Given the description of an element on the screen output the (x, y) to click on. 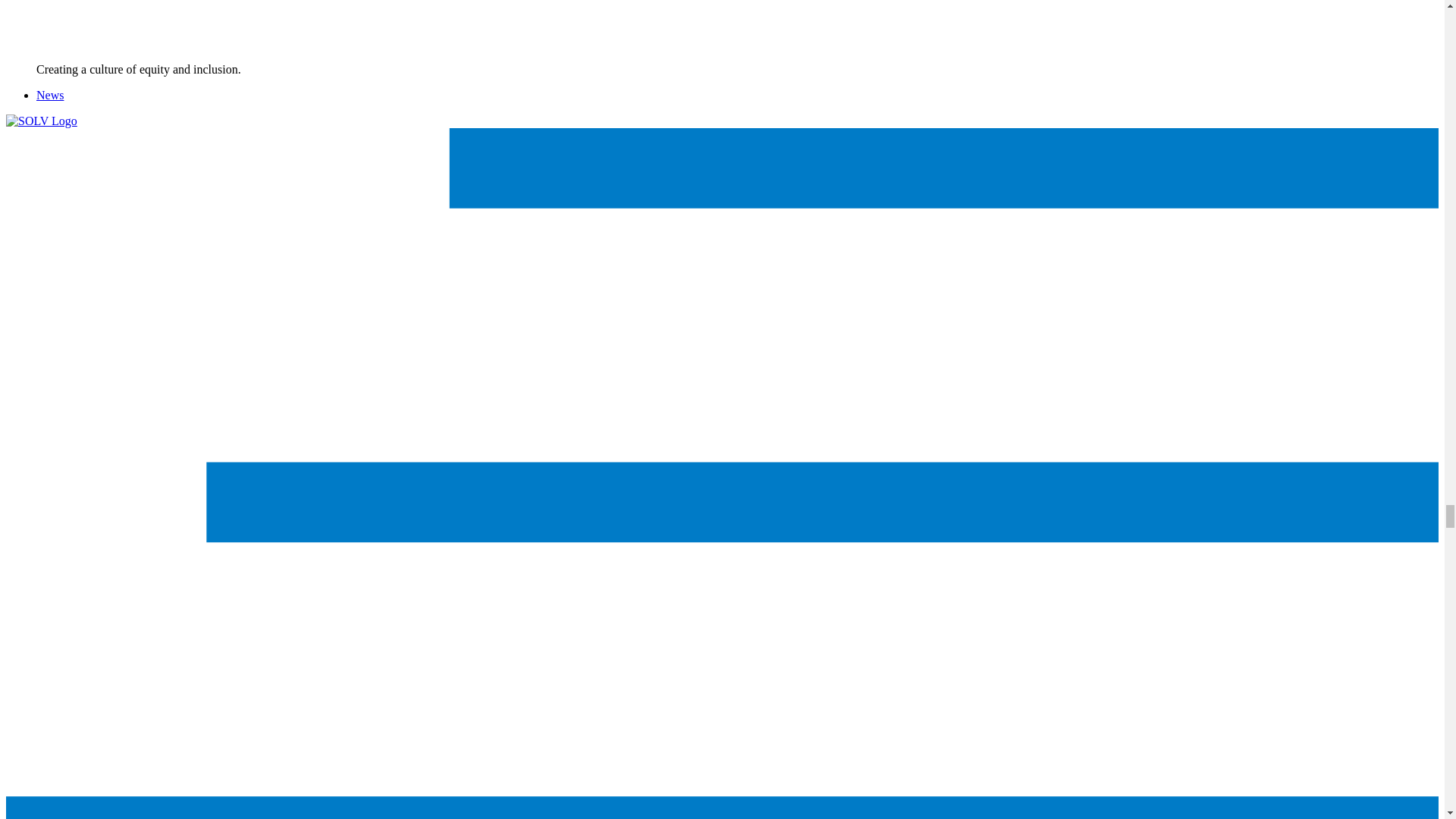
News (50, 94)
